Given the description of an element on the screen output the (x, y) to click on. 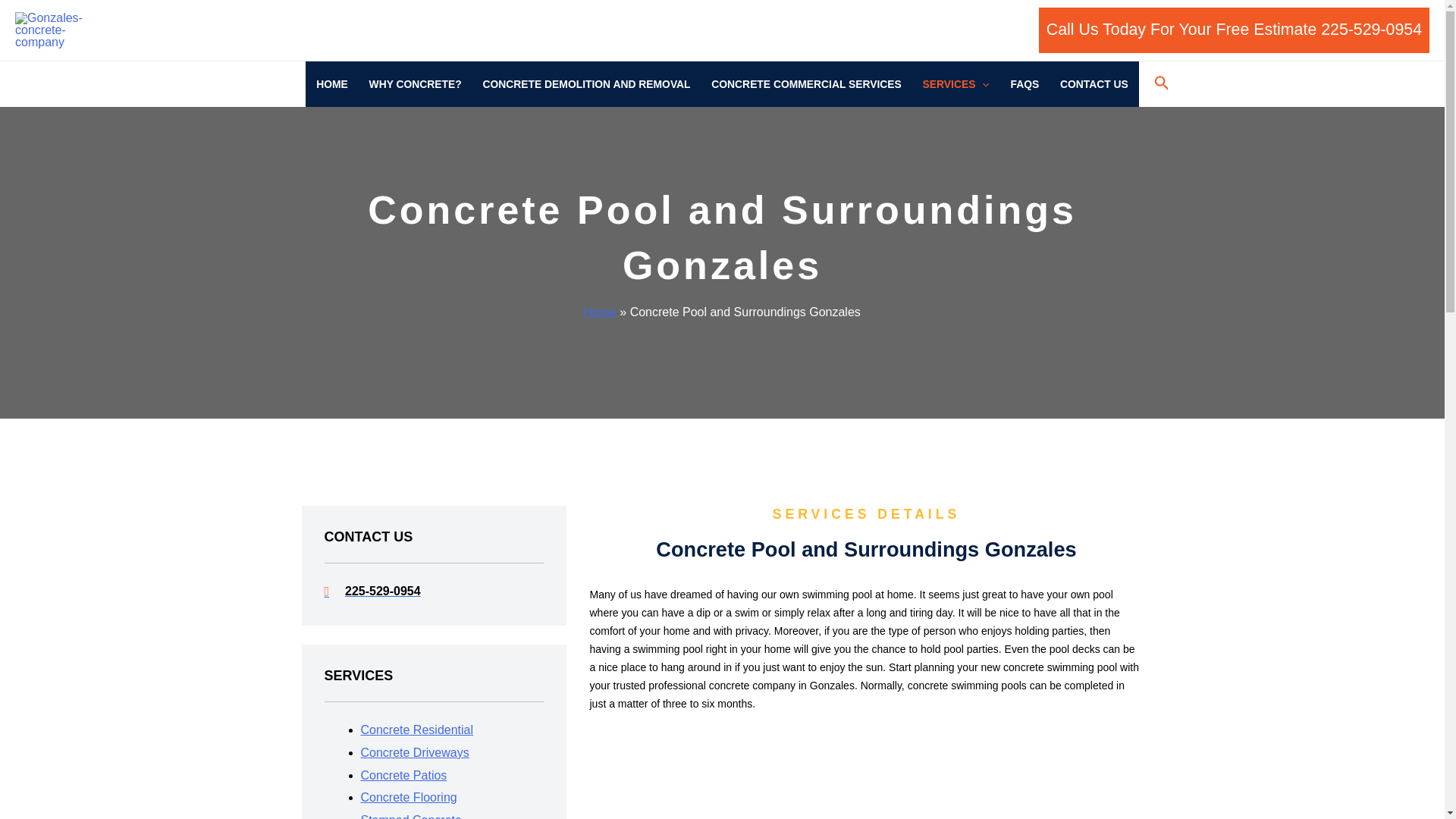
CONCRETE DEMOLITION AND REMOVAL (586, 84)
Call Us Today For Your Free Estimate 225-529-0954 (1234, 30)
HOME (331, 84)
SERVICES (956, 84)
CONTACT US (1093, 84)
CONCRETE COMMERCIAL SERVICES (805, 84)
WHY CONCRETE? (414, 84)
FAQS (1024, 84)
